Given the description of an element on the screen output the (x, y) to click on. 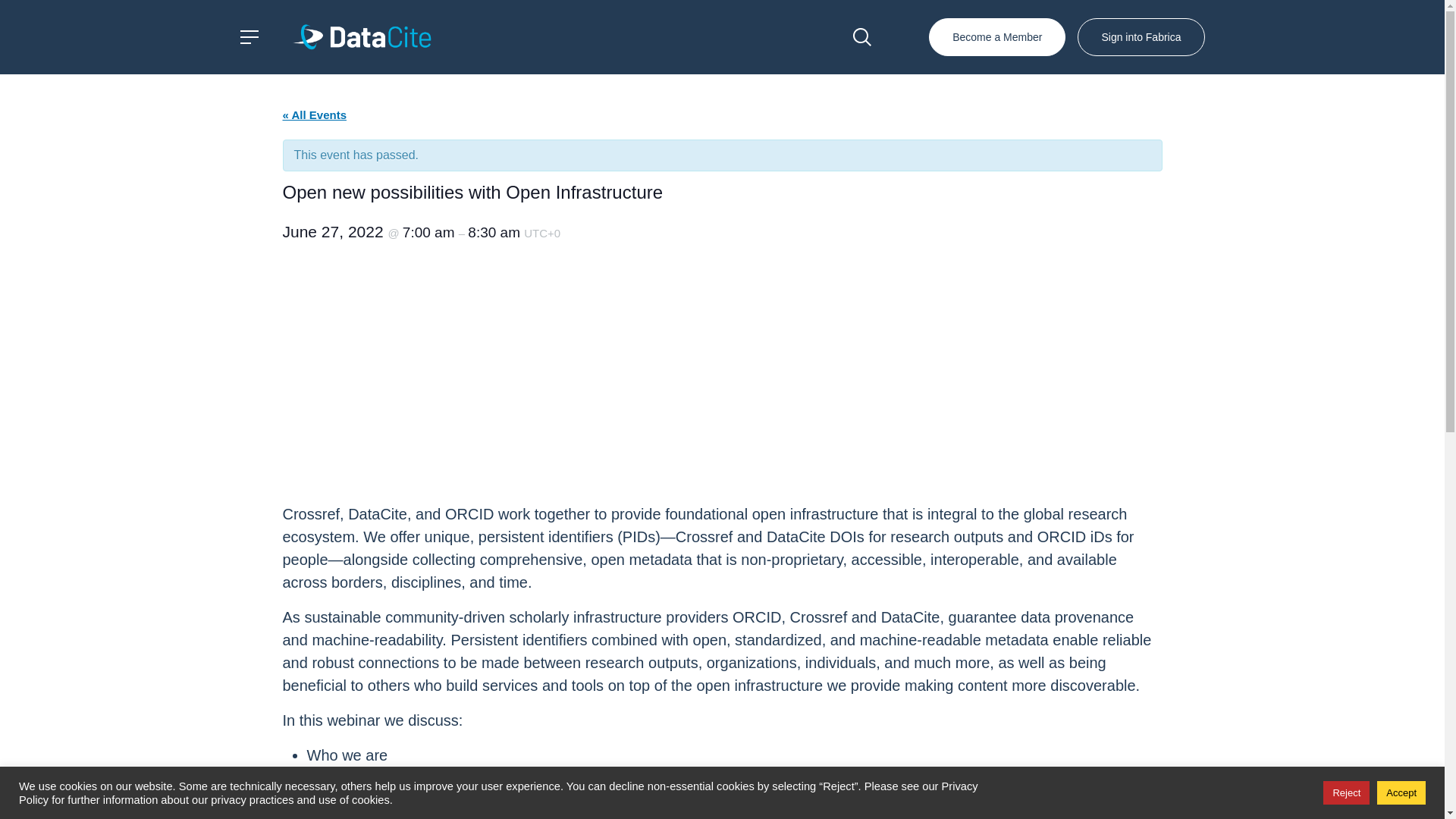
Search (862, 37)
Open new possibilities with Open Infrastructure (471, 362)
Search (862, 37)
Sign into Fabrica (1140, 37)
Become a Member (996, 37)
